Given the description of an element on the screen output the (x, y) to click on. 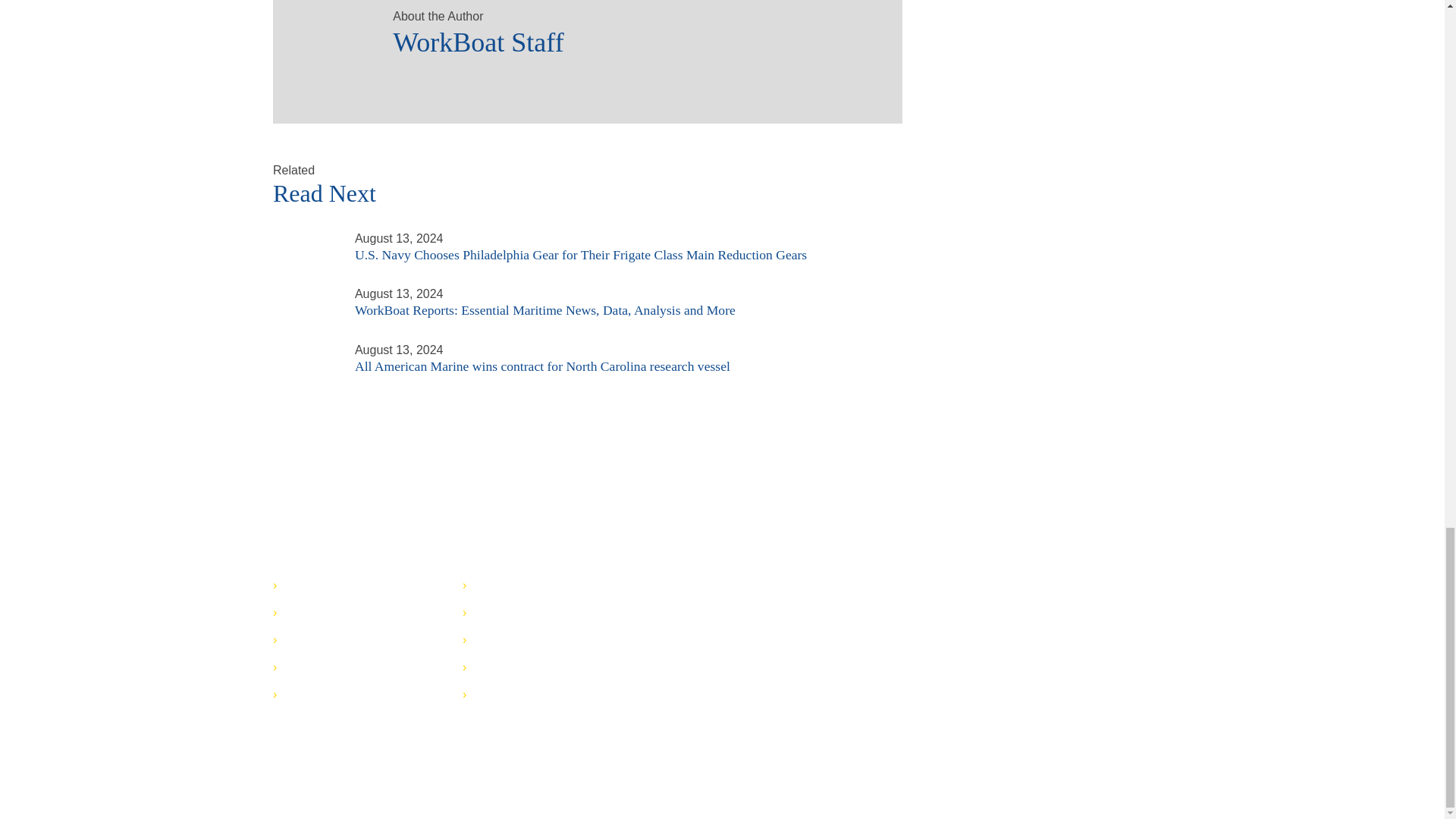
WorkBoat Staff (631, 37)
WorkBoat Staff (325, 33)
